Given the description of an element on the screen output the (x, y) to click on. 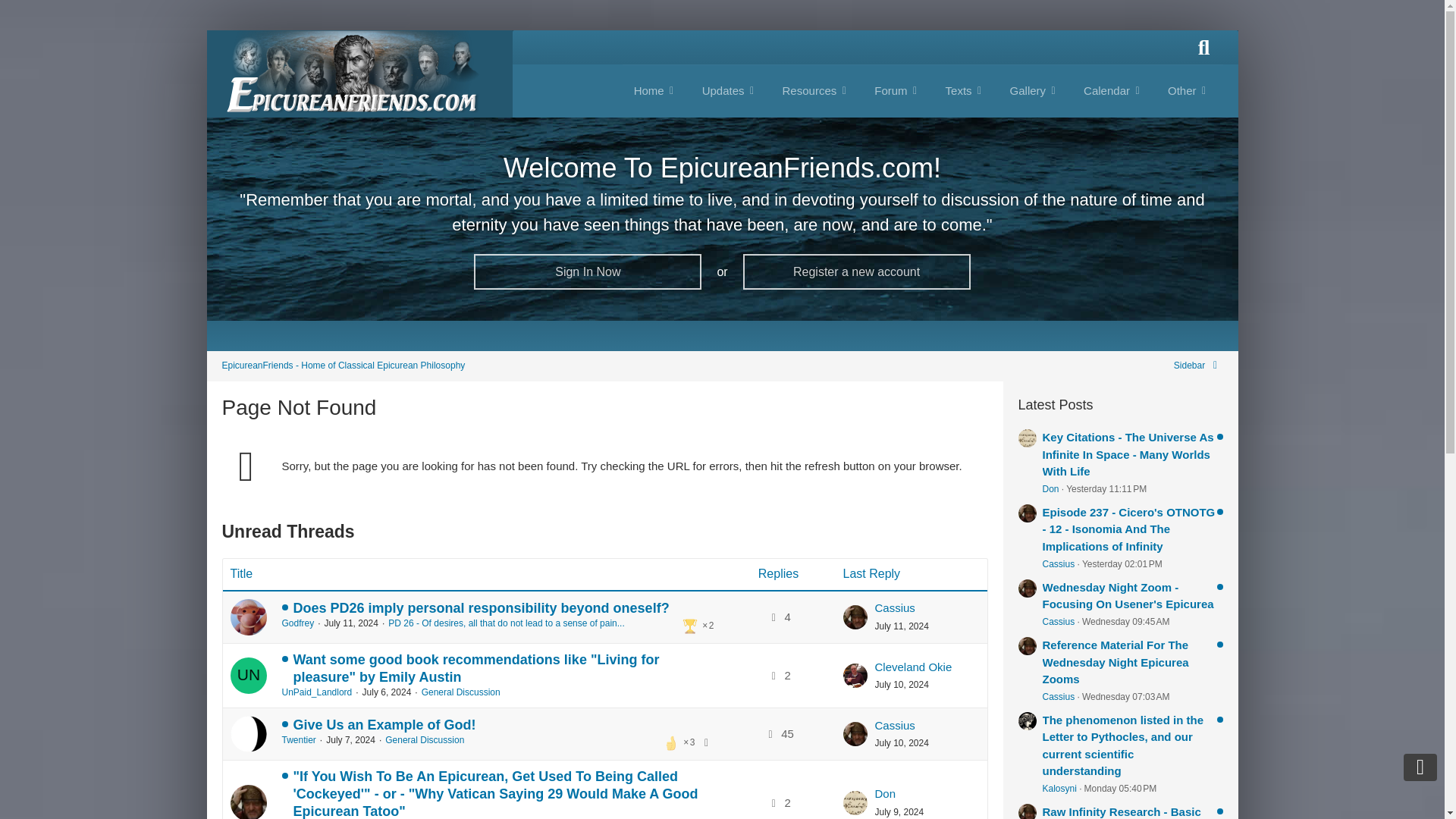
EpicureanFriends - Home of Classical Epicurean Philosophy (342, 366)
Double-Click to Mark This Thread Read (248, 616)
Double-Click to Mark This Thread Read (248, 733)
Double-Click to Mark This Thread Read (248, 675)
Double-Click to Mark This Thread Read (248, 801)
